Given the description of an element on the screen output the (x, y) to click on. 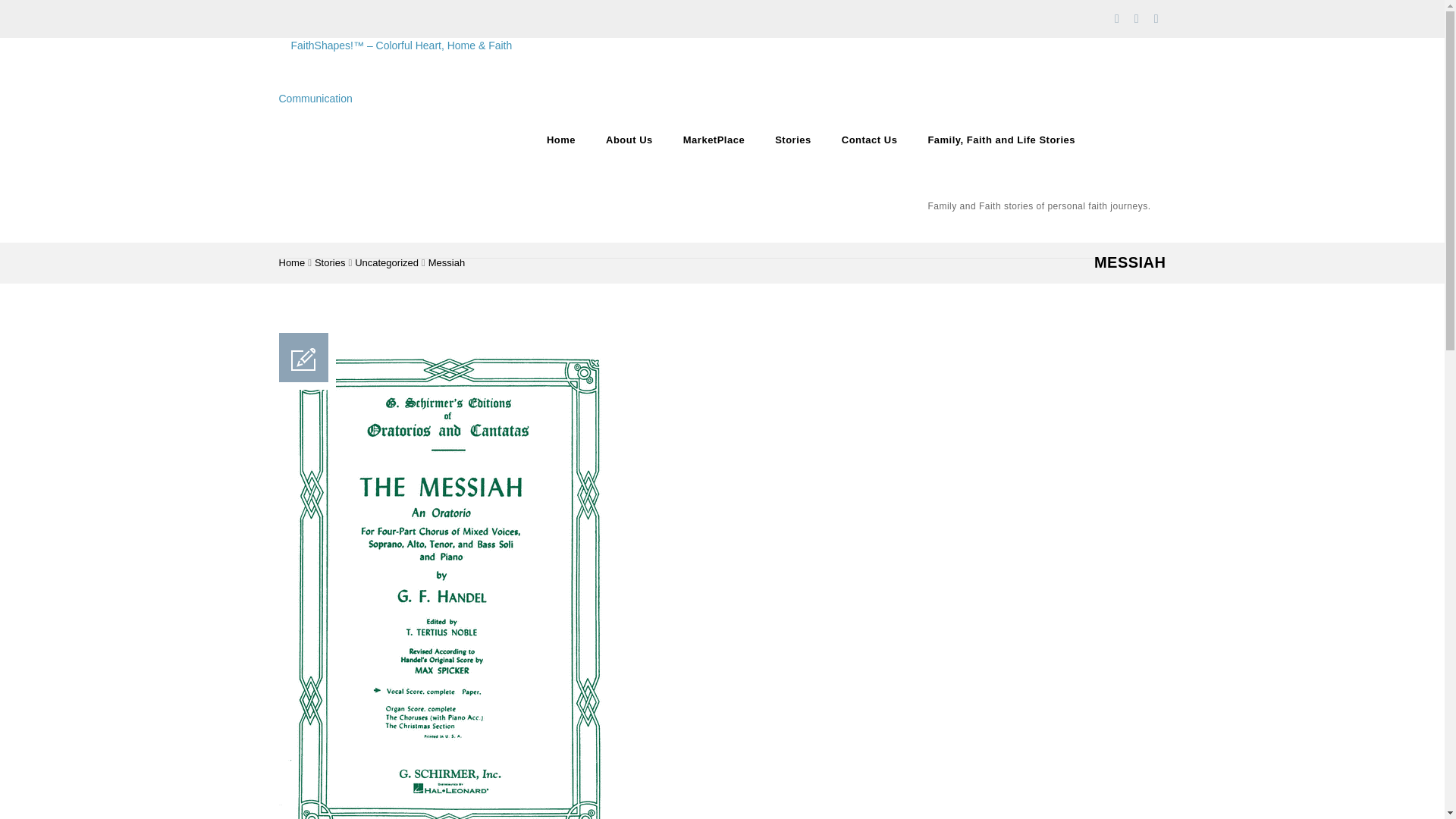
MarketPlace (714, 140)
Messiah (446, 262)
Home (292, 262)
Contact Us (869, 140)
Stories (329, 262)
Stories (793, 140)
Uncategorized (387, 262)
About Us (629, 140)
